Given the description of an element on the screen output the (x, y) to click on. 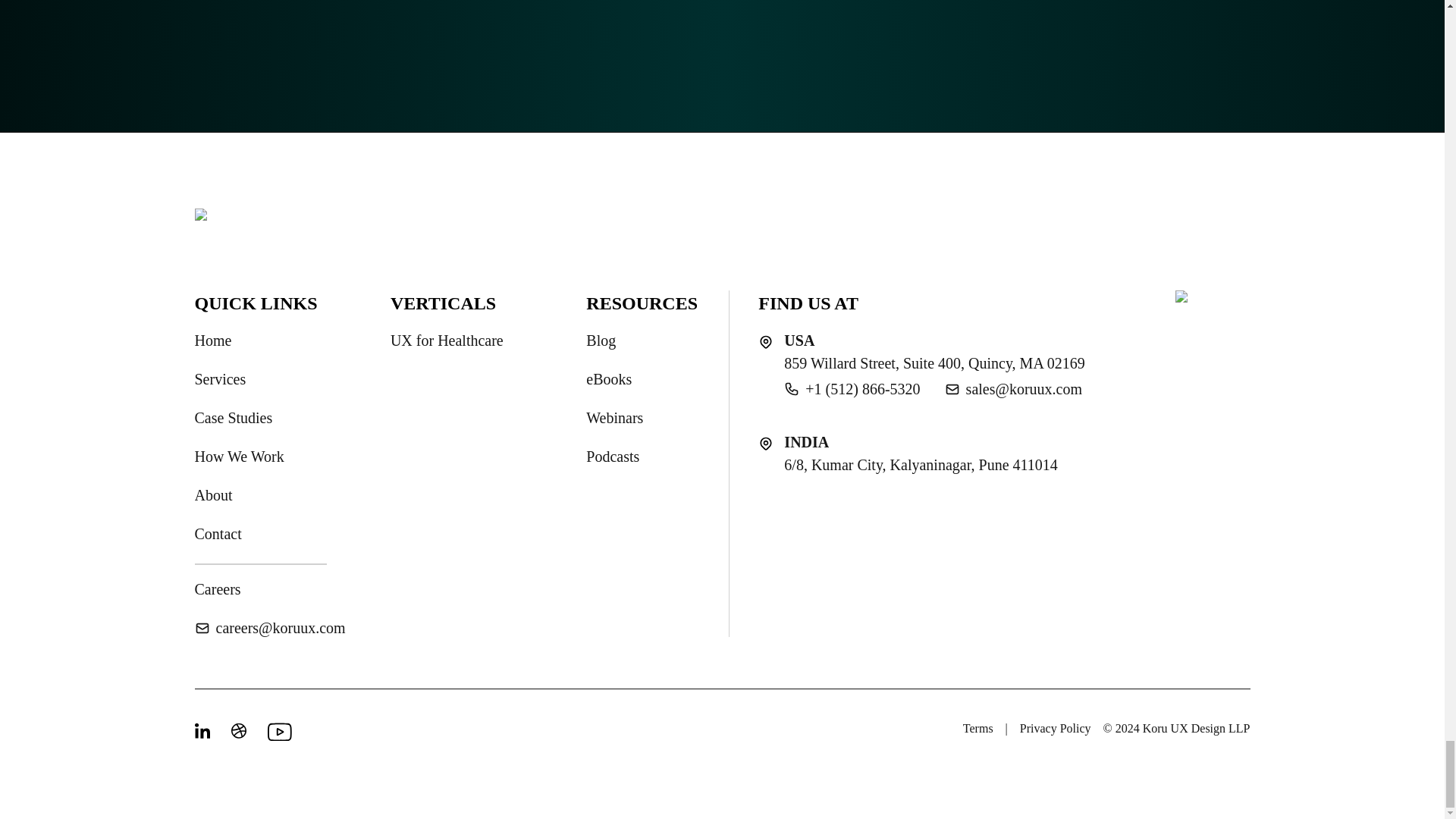
Privacy Policy (1055, 728)
Visit our dribble page (239, 731)
Blog (600, 340)
Webinars (614, 417)
Visit our linked-in page (202, 731)
UX for Healthcare (446, 340)
Podcasts (612, 456)
Services (219, 379)
Case Studies (232, 417)
Terms (977, 728)
About (212, 495)
Visit our YouTube channel (275, 731)
Contact (217, 533)
Home (212, 340)
Careers (216, 588)
